Given the description of an element on the screen output the (x, y) to click on. 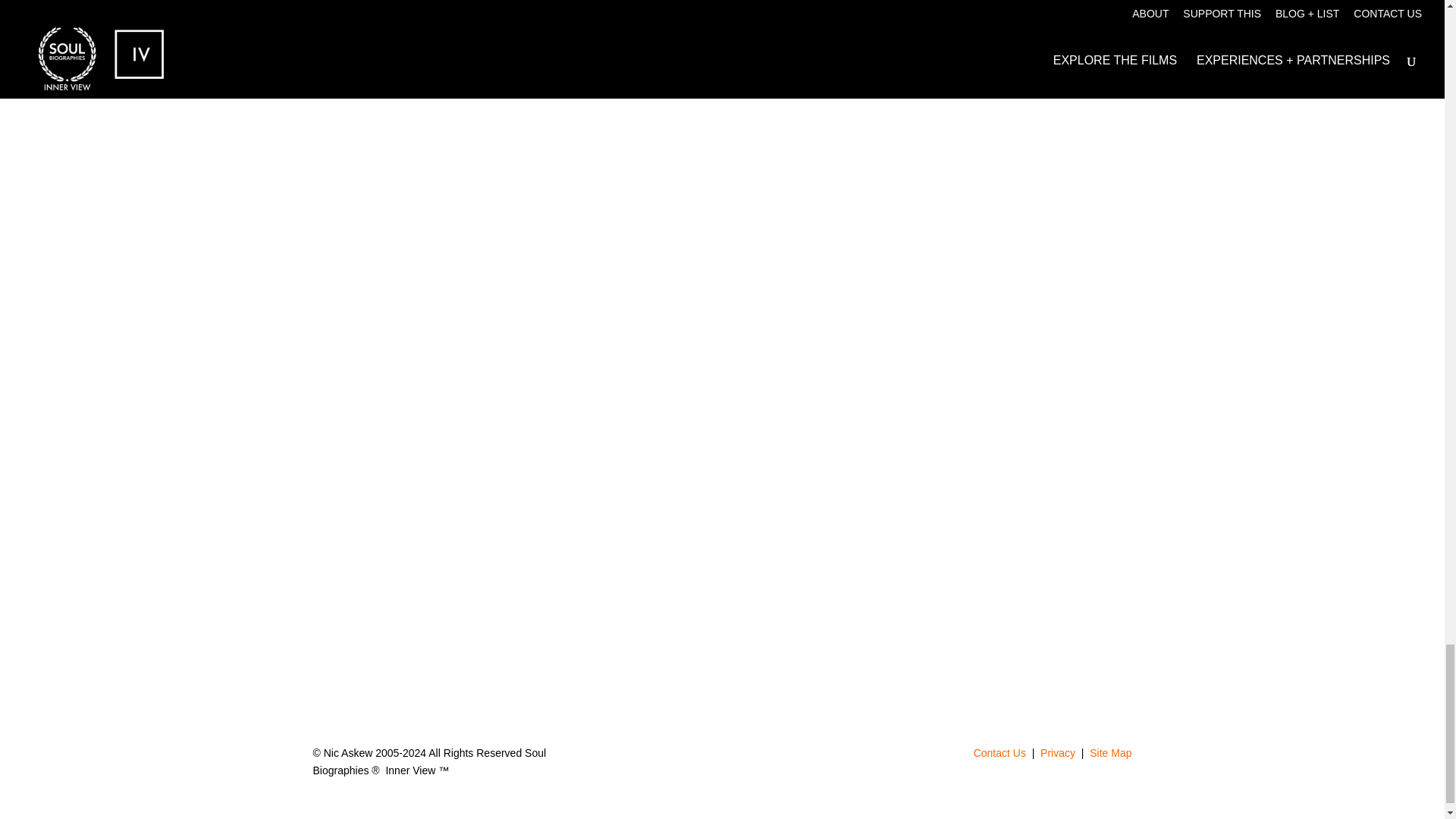
Follow on Instagram (706, 756)
Contact Us (1000, 752)
Privacy  (1059, 752)
Site Map (1110, 752)
Follow on Youtube (766, 756)
Follow on LinkedIn (675, 756)
Follow on Facebook (737, 756)
